Given the description of an element on the screen output the (x, y) to click on. 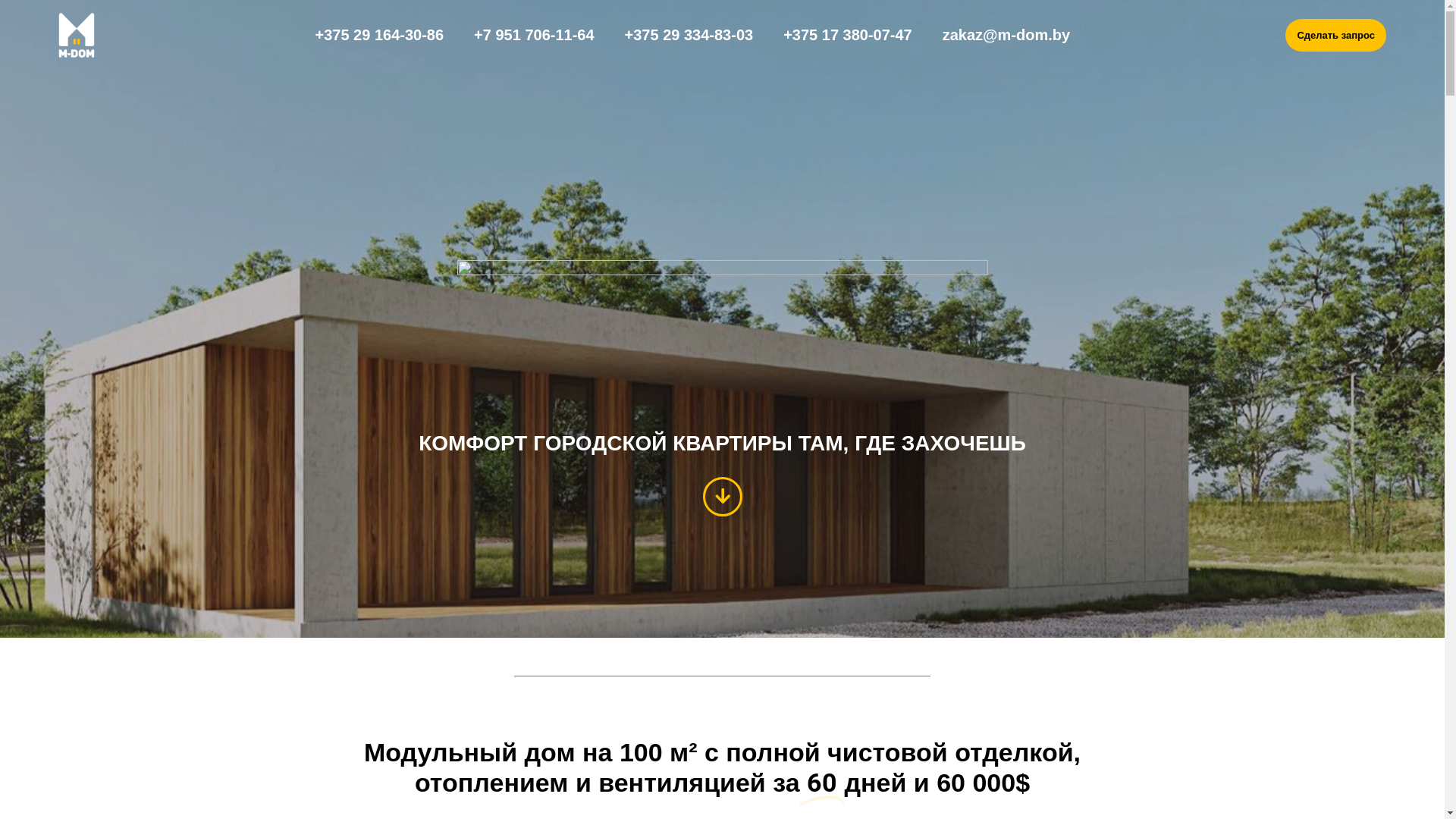
+375 29 334-83-03 Element type: text (688, 34)
+7 951 706-11-64 Element type: text (533, 34)
+375 29 164-30-86 Element type: text (379, 34)
+375 17 380-07-47 Element type: text (847, 34)
zakaz@m-dom.by Element type: text (1006, 34)
